Given the description of an element on the screen output the (x, y) to click on. 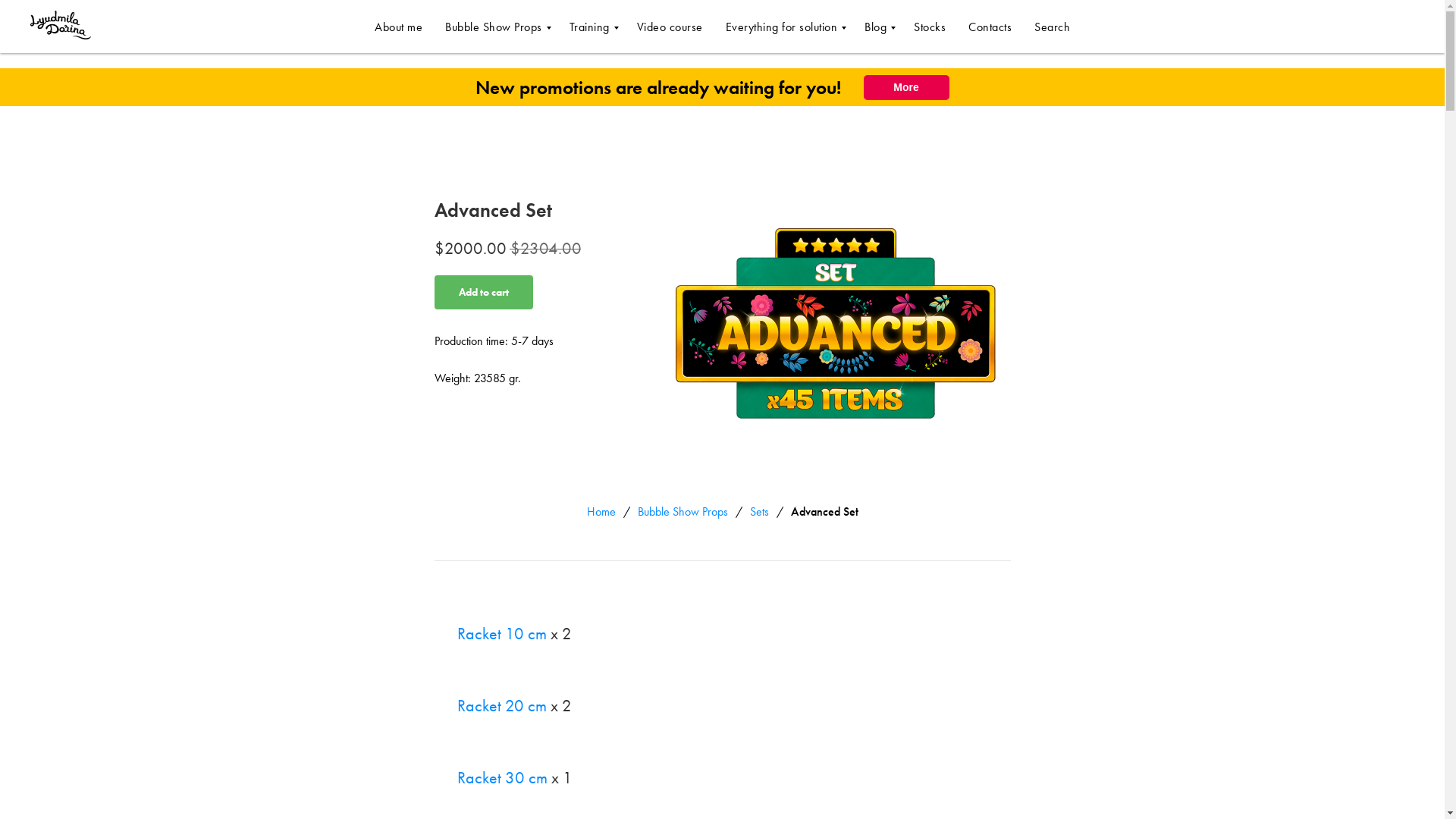
Stocks (929, 26)
Contacts (989, 26)
Search (1051, 26)
Bubble Show Props (496, 26)
About me (398, 26)
Everything for solution (783, 26)
Training (590, 26)
Blog (877, 26)
Video course (670, 26)
